Given the description of an element on the screen output the (x, y) to click on. 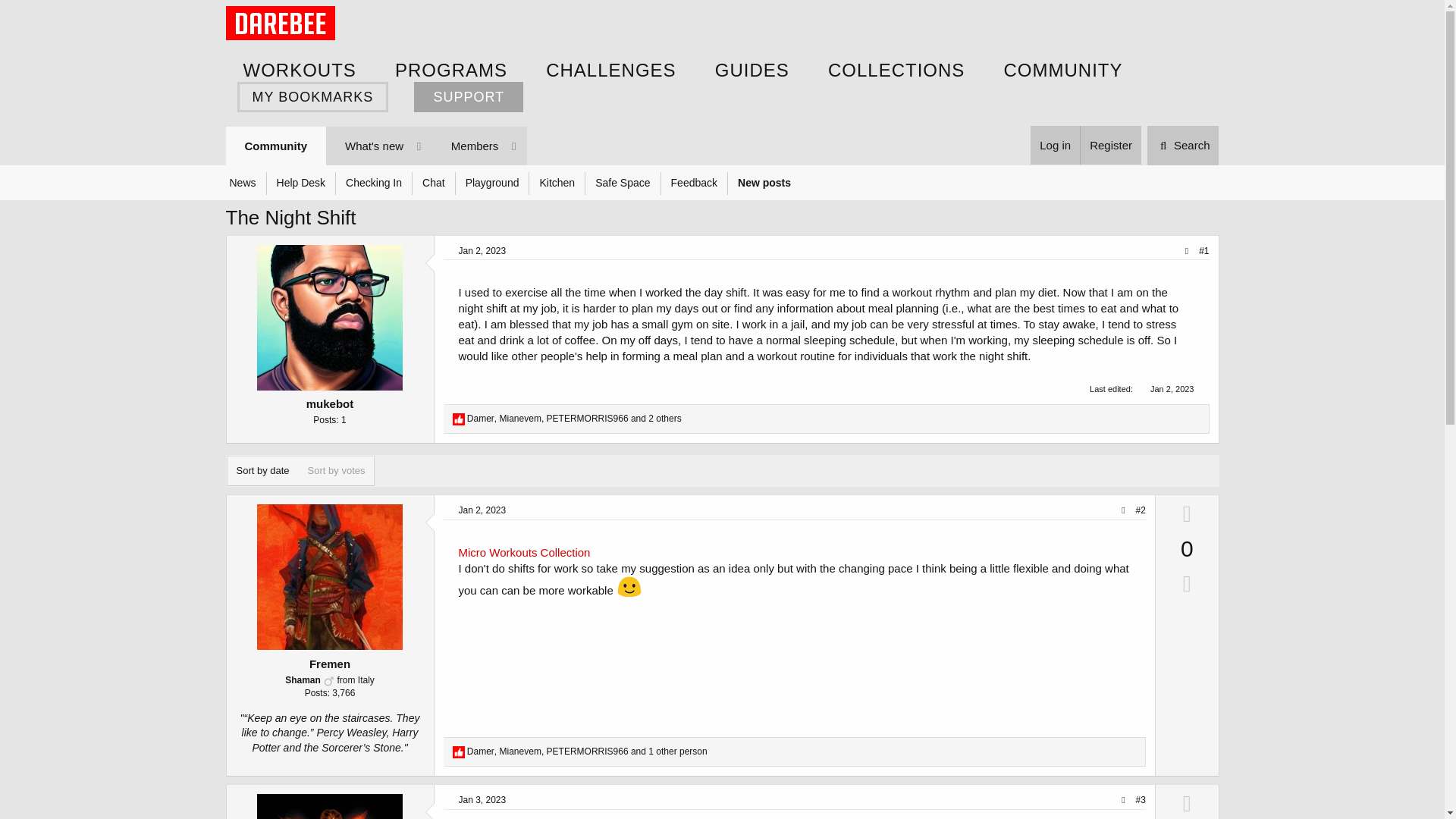
SUPPORT (467, 96)
PROGRAMS (450, 69)
Register (1110, 145)
Like (376, 145)
GUIDES (457, 419)
Jan 2, 2023 at 5:19 AM (751, 69)
DAREBEE (1172, 388)
What's new (376, 145)
